Given the description of an element on the screen output the (x, y) to click on. 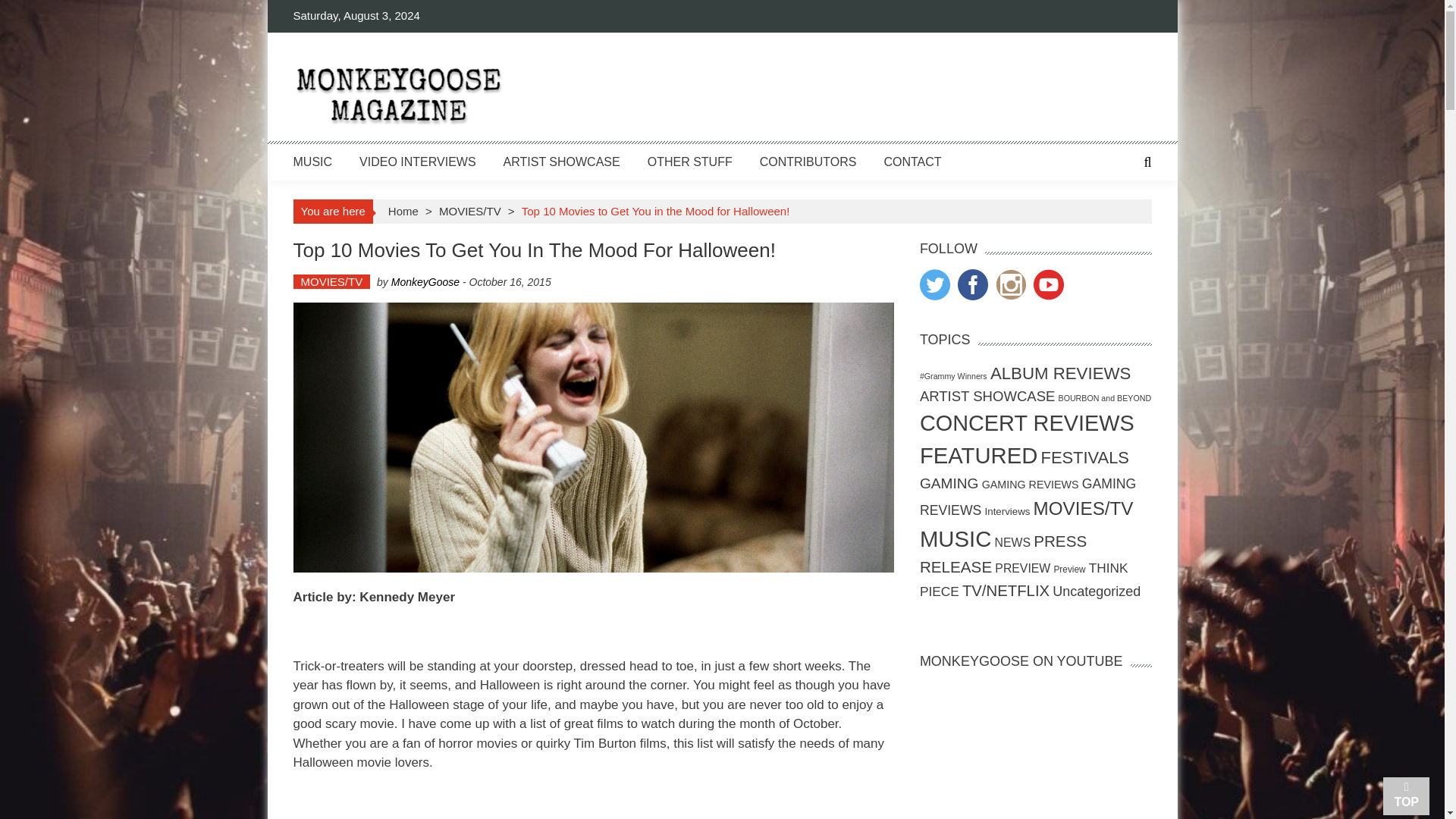
VIDEO INTERVIEWS (417, 160)
MonkeyGoose (425, 282)
CONTRIBUTORS (808, 160)
MUSIC (311, 160)
ARTIST SHOWCASE (561, 160)
OTHER STUFF (689, 160)
